Given the description of an element on the screen output the (x, y) to click on. 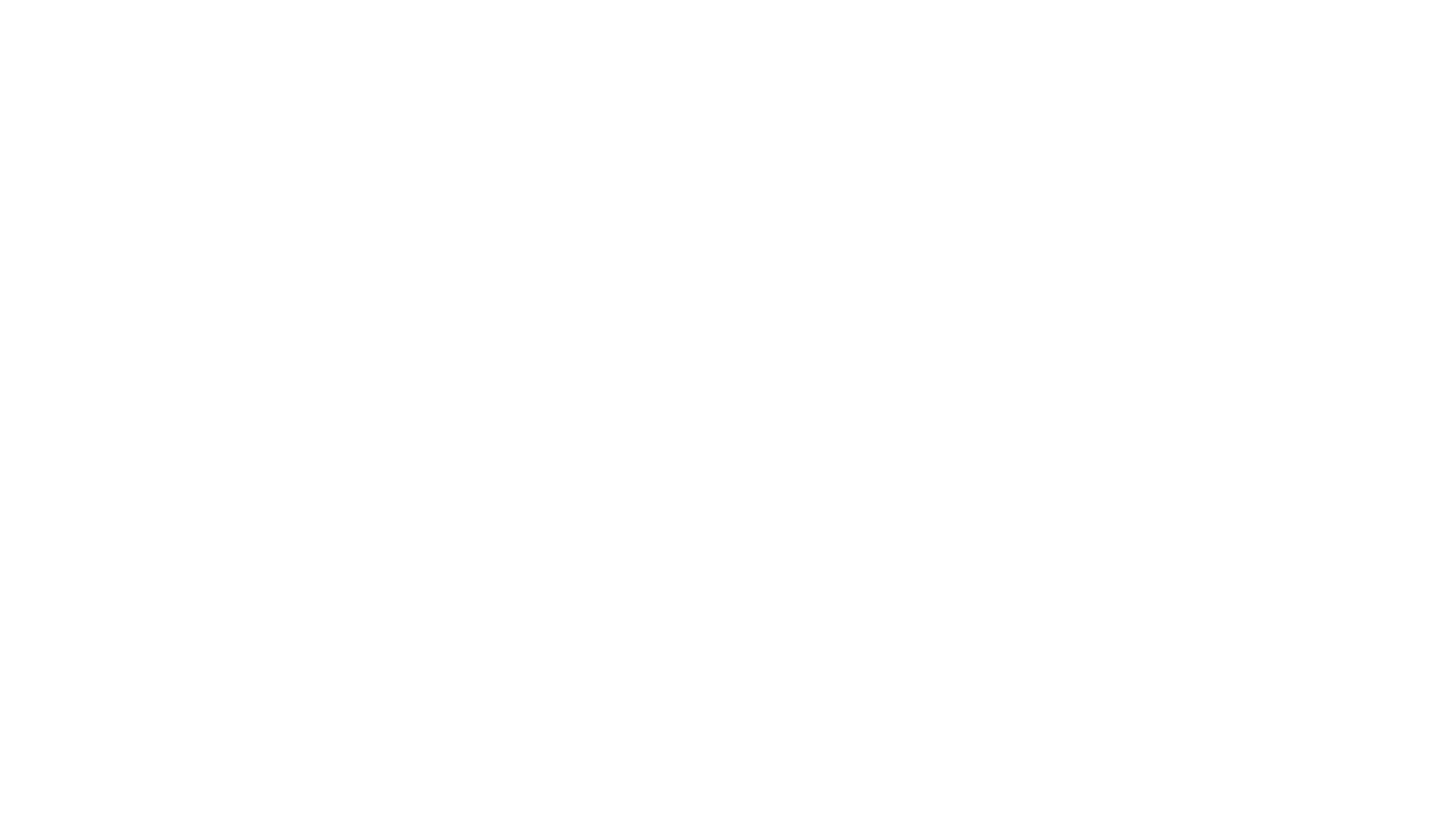
Cloudflare Element type: text (798, 799)
